Given the description of an element on the screen output the (x, y) to click on. 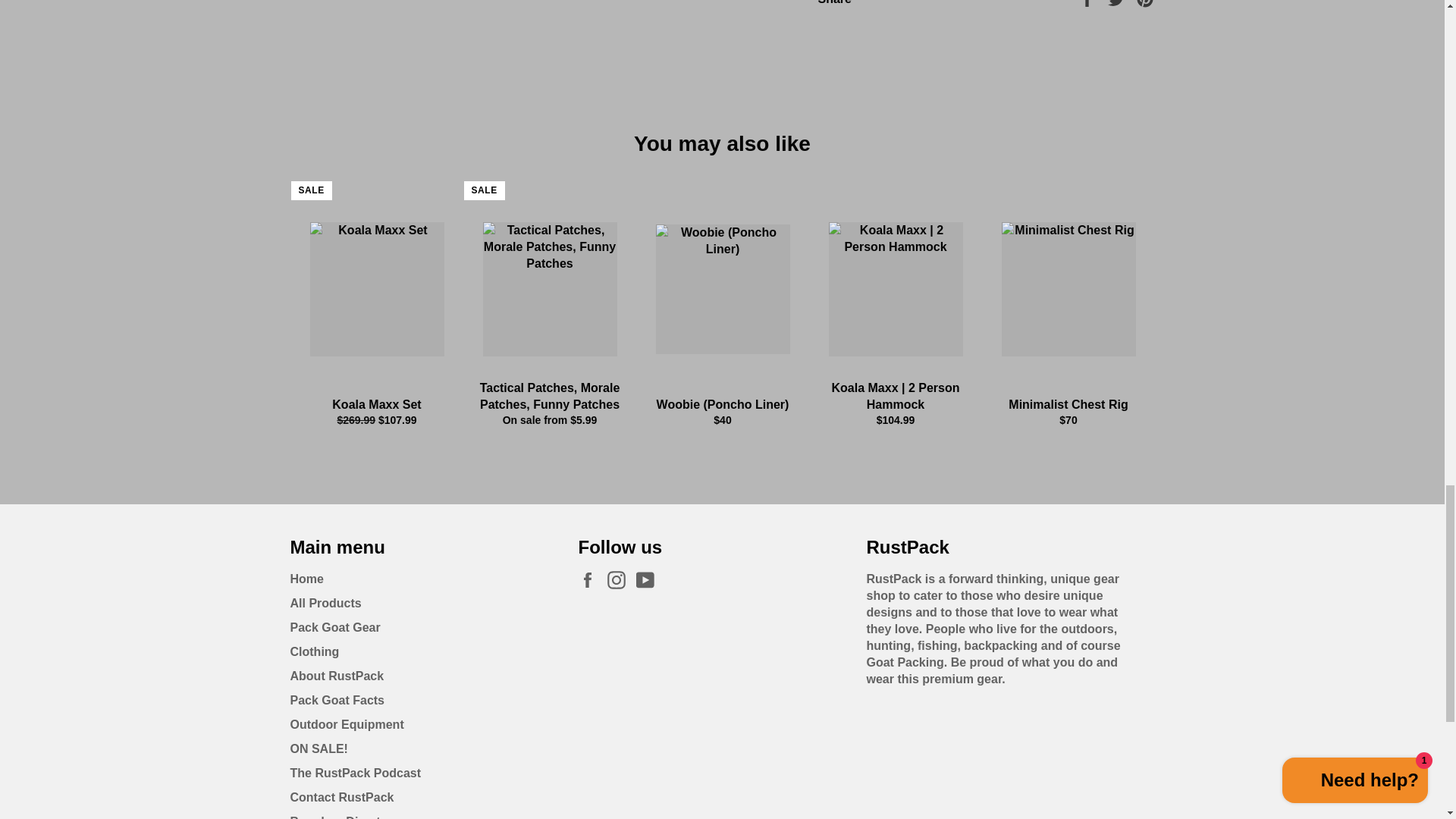
Pin on Pinterest (1144, 2)
RustPack on YouTube (649, 579)
Tweet on Twitter (1117, 2)
Share on Facebook (1088, 2)
RustPack on Instagram (620, 579)
RustPack on Facebook (591, 579)
